Given the description of an element on the screen output the (x, y) to click on. 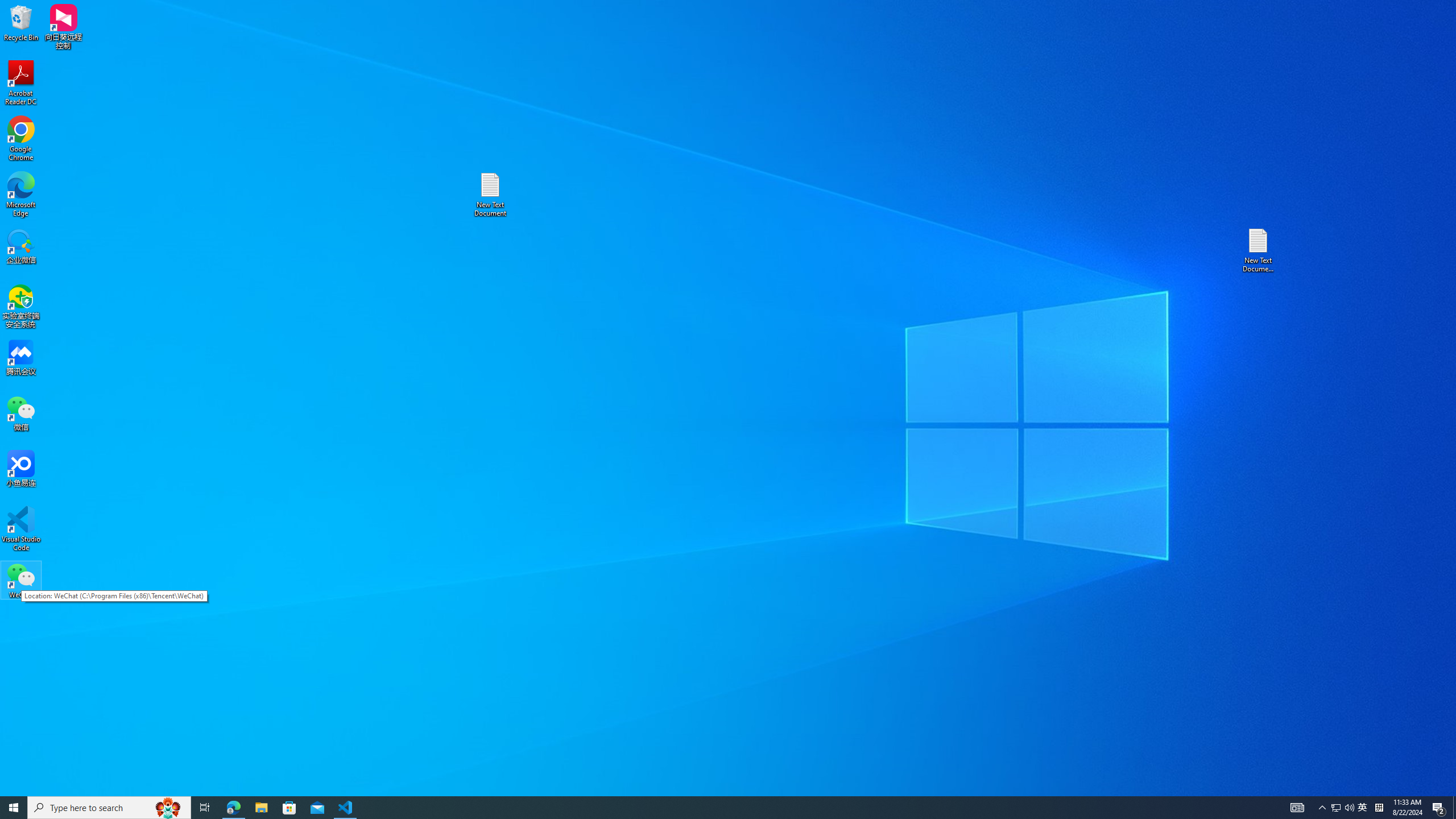
Recycle Bin (21, 22)
File Explorer (261, 807)
Visual Studio Code (21, 528)
